Given the description of an element on the screen output the (x, y) to click on. 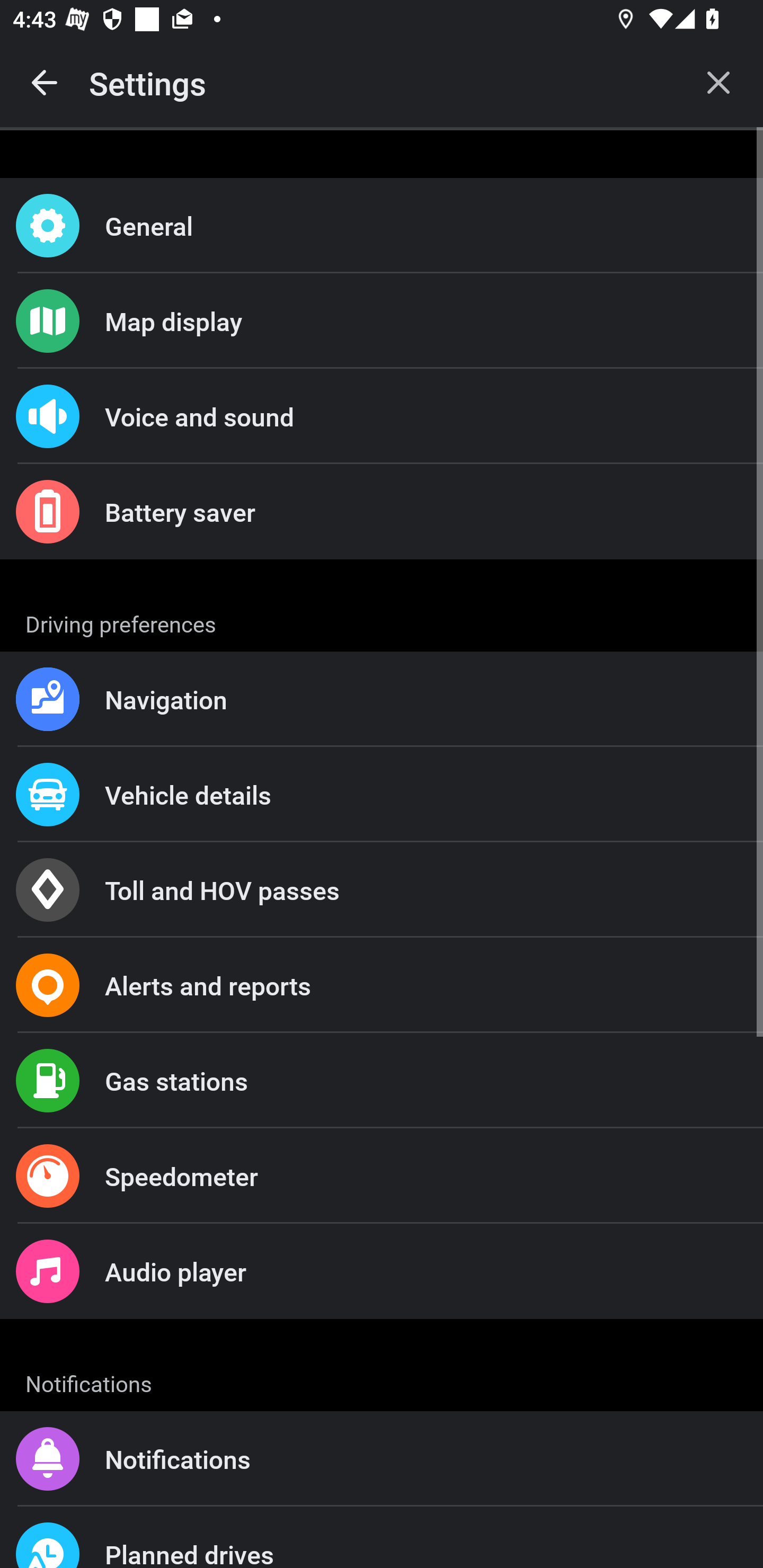
General (381, 225)
Map display (381, 320)
Voice and sound (381, 416)
Battery saver (381, 511)
ACTION_CELL_ICON Settings ACTION_CELL_TEXT (381, 620)
Navigation (381, 699)
Vehicle details (381, 794)
ACTION_CELL_ICON Shut off ACTION_CELL_TEXT (381, 891)
Alerts and reports (381, 985)
Gas stations (381, 1080)
Speedometer (381, 1175)
Audio player (381, 1270)
Notifications (381, 1458)
Planned drives (381, 1537)
